Given the description of an element on the screen output the (x, y) to click on. 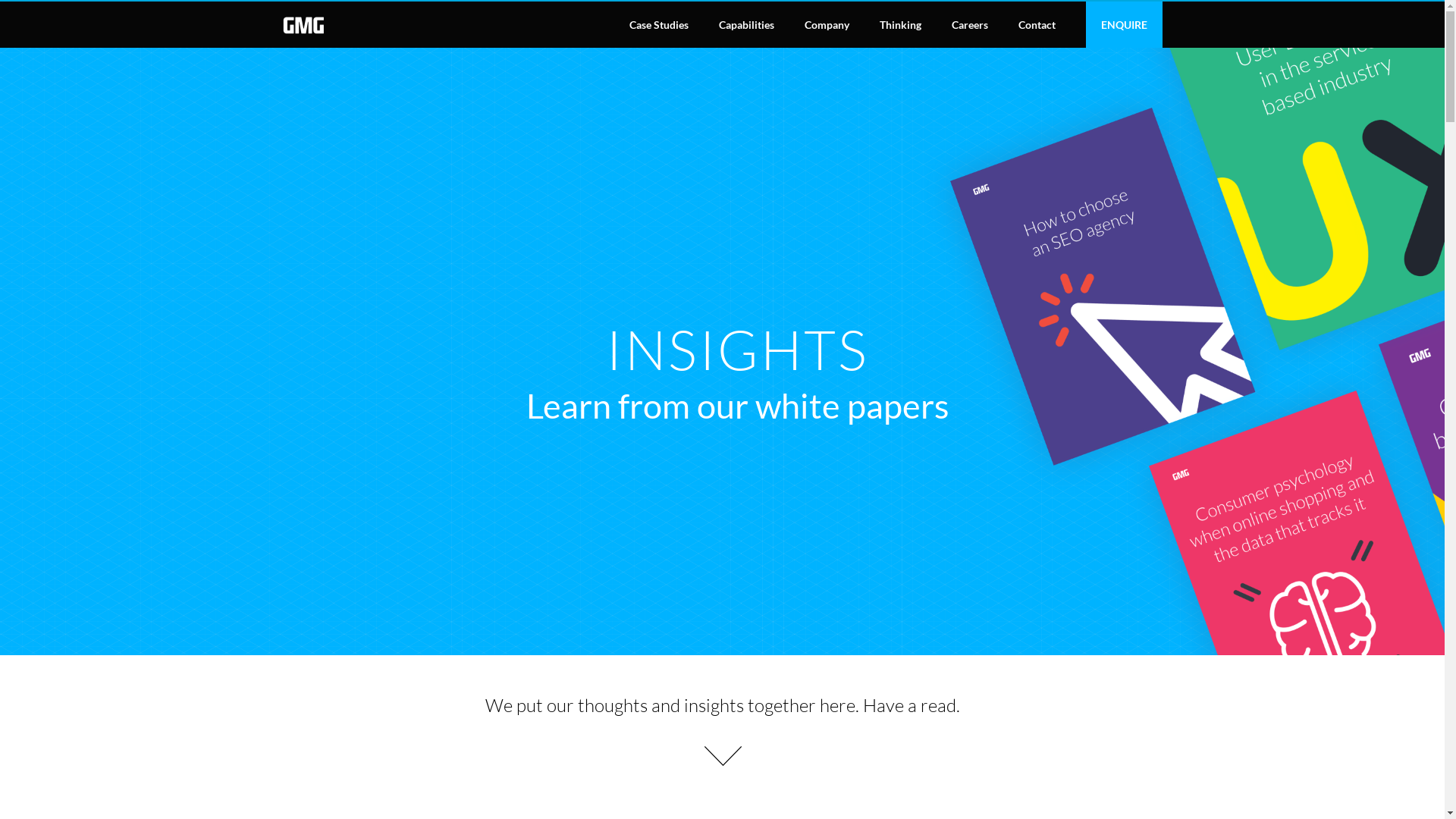
ENQUIRE Element type: text (1123, 24)
GMG Digital Element type: text (302, 24)
Company Element type: text (825, 24)
Thinking Element type: text (900, 24)
Case Studies Element type: text (658, 24)
Careers Element type: text (968, 24)
Capabilities Element type: text (746, 24)
Contact Element type: text (1036, 24)
